Given the description of an element on the screen output the (x, y) to click on. 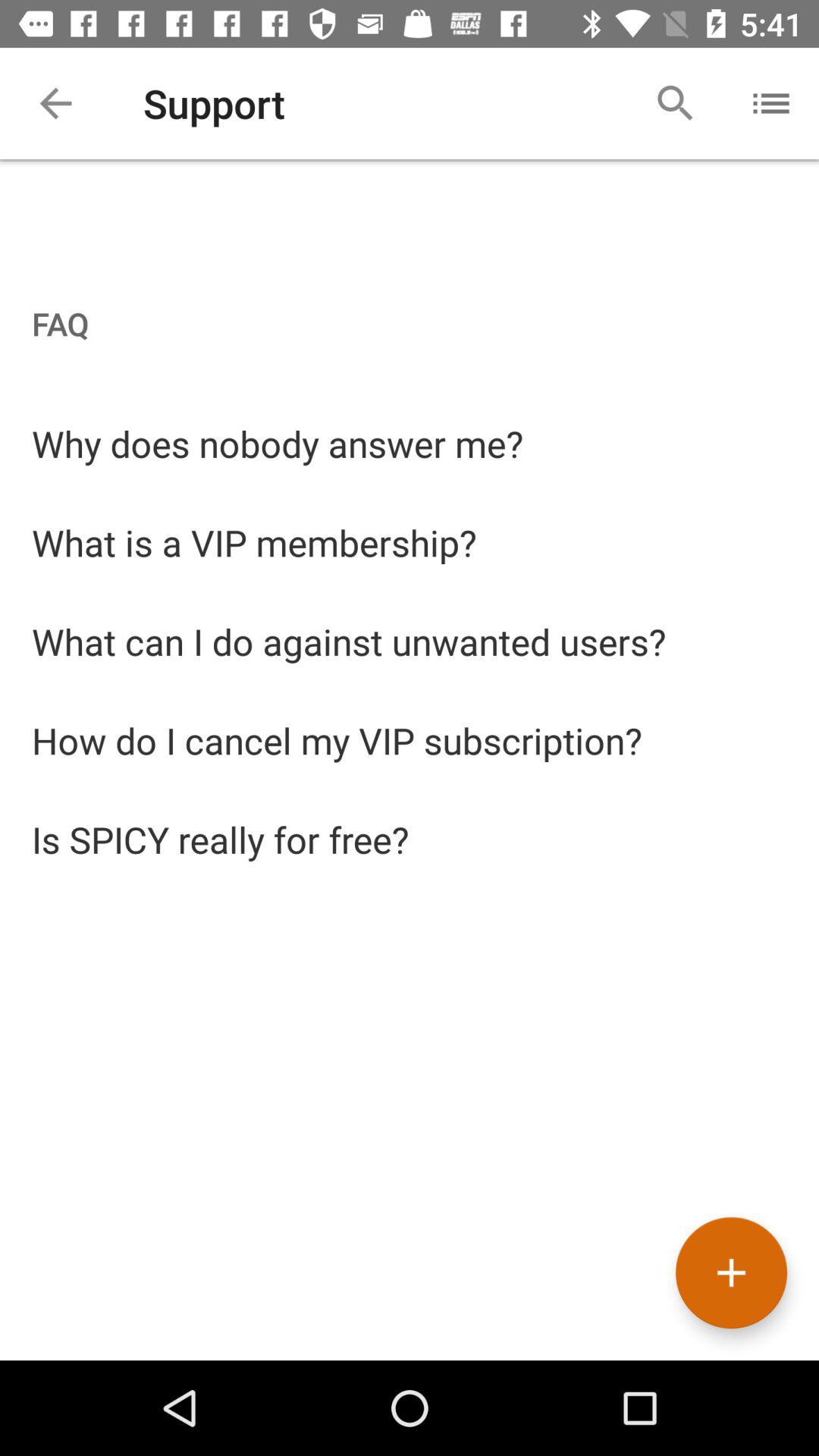
click on the icon beside the search icon at the top right corner of the page (771, 103)
